Given the description of an element on the screen output the (x, y) to click on. 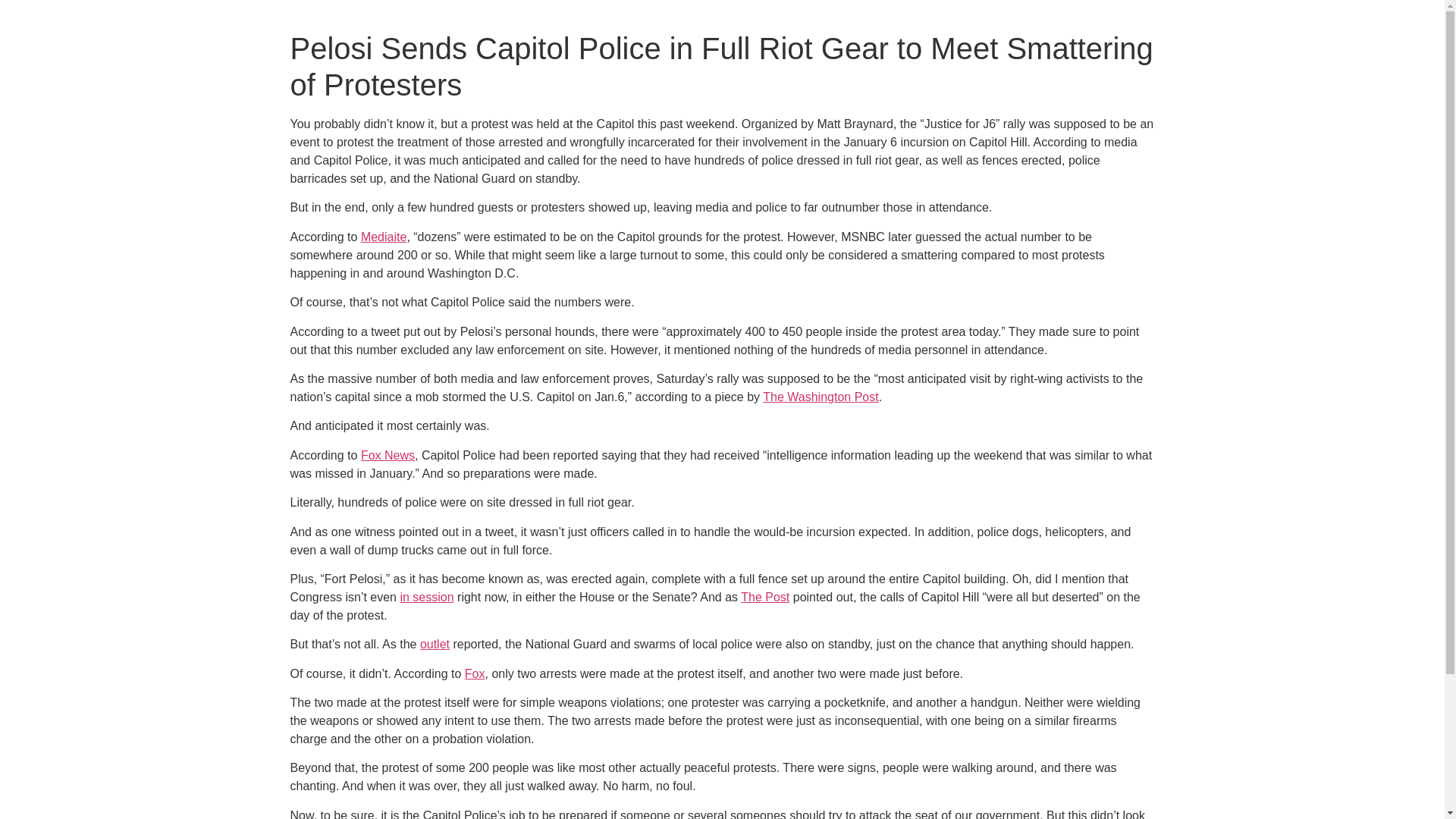
Fox (474, 673)
outlet (434, 644)
The Washington Post (819, 396)
in session (425, 596)
Fox News (387, 454)
The Post (765, 596)
Mediaite (383, 236)
